Given the description of an element on the screen output the (x, y) to click on. 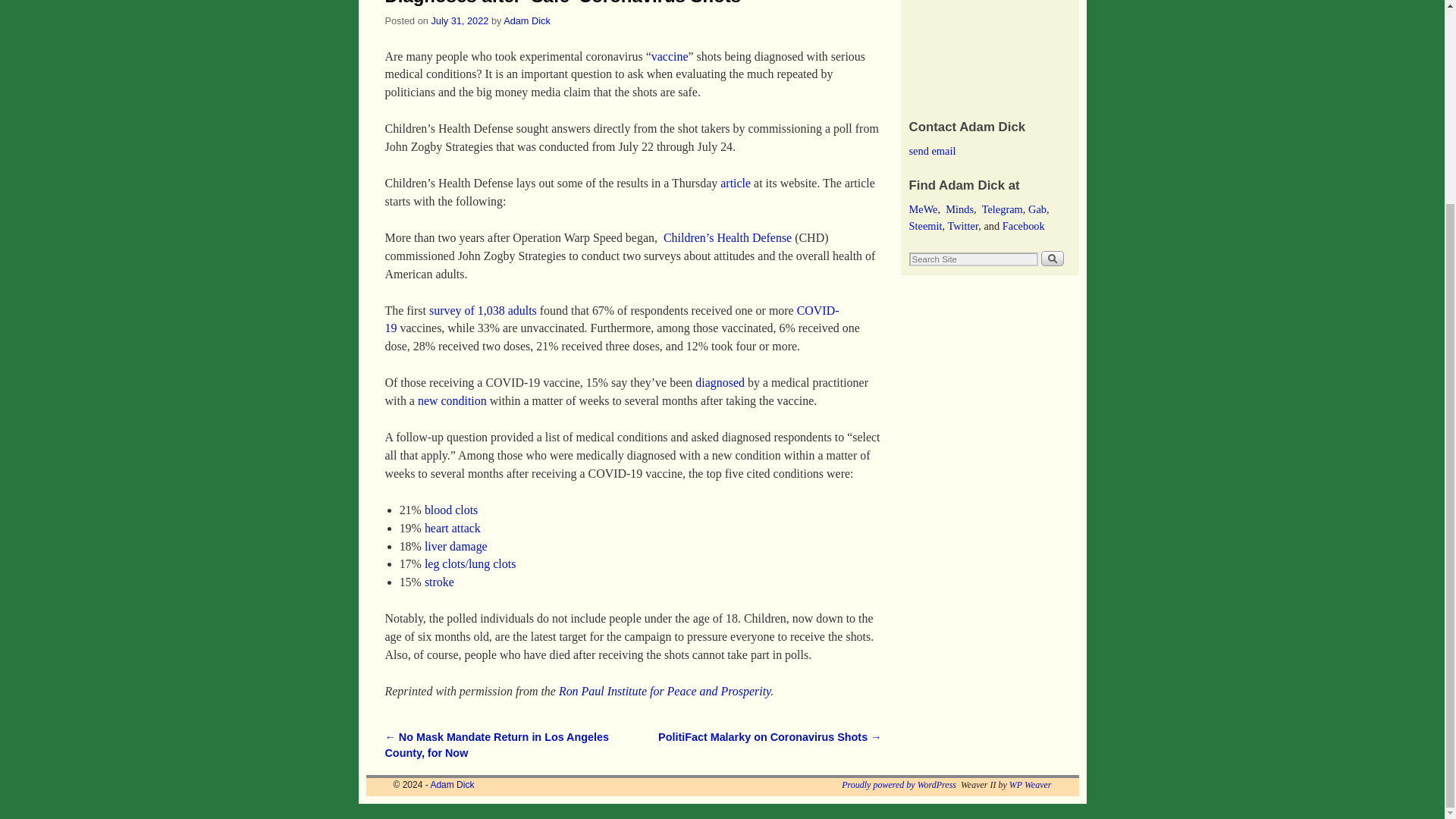
Telegram (1002, 209)
blood clots (451, 509)
Minds (959, 209)
9:10 am (458, 19)
new condition (451, 400)
send email (931, 150)
Adam Dick (451, 784)
COVID-19 (612, 318)
Gab (1036, 209)
Adam Dick (451, 784)
Adam Dick (526, 19)
liver damage (456, 545)
stroke (439, 581)
Proudly powered by WordPress (898, 784)
View all posts by Adam Dick (526, 19)
